Given the description of an element on the screen output the (x, y) to click on. 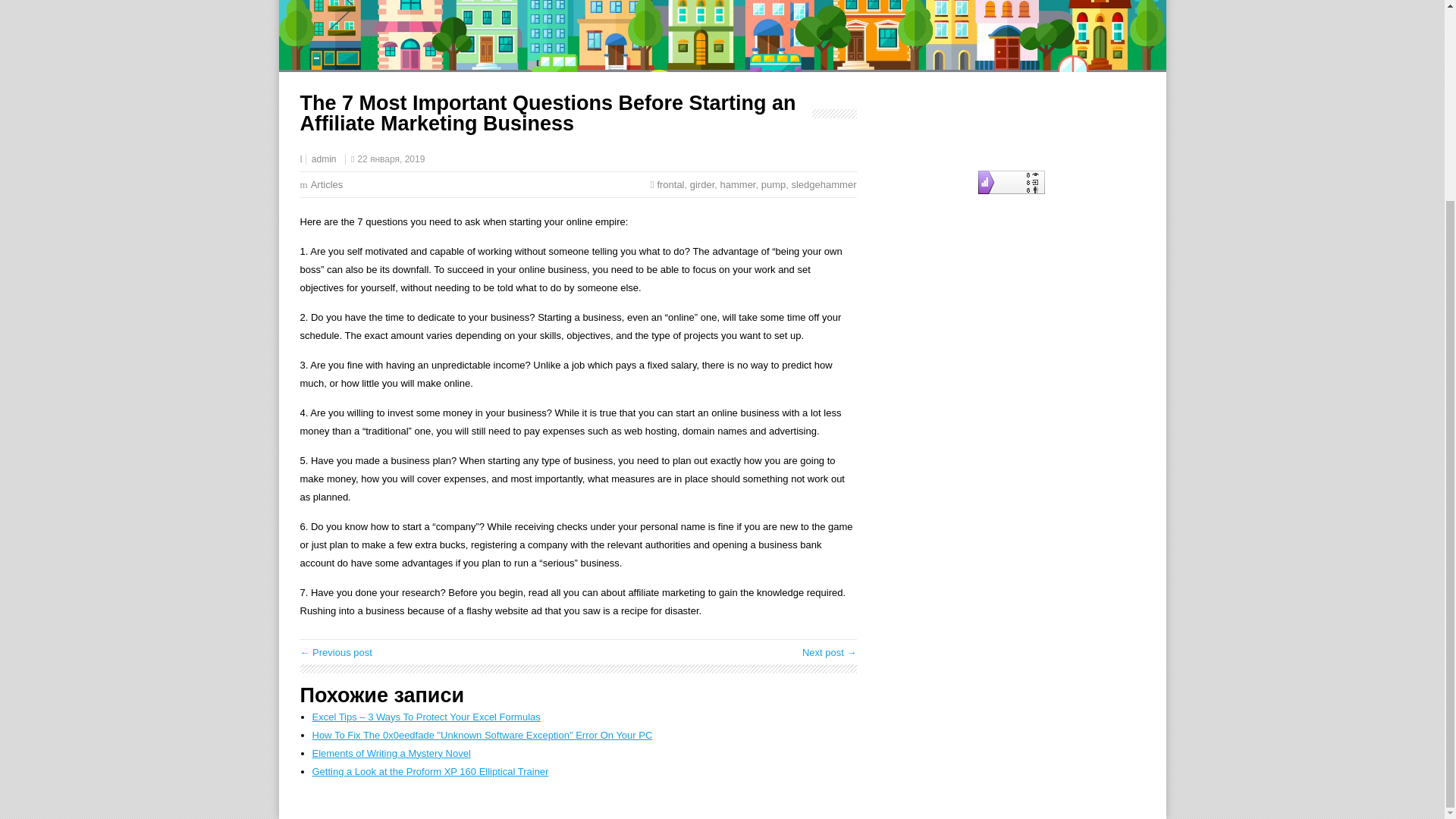
Three Basic Parenting Styles (829, 652)
sledgehammer (823, 184)
Holiday Decorating Ideas and the Environment (335, 652)
Articles (327, 184)
Getting a Look at the Proform XP 160 Elliptical Trainer (430, 771)
girder (702, 184)
admin (323, 158)
hammer (737, 184)
frontal (670, 184)
